Given the description of an element on the screen output the (x, y) to click on. 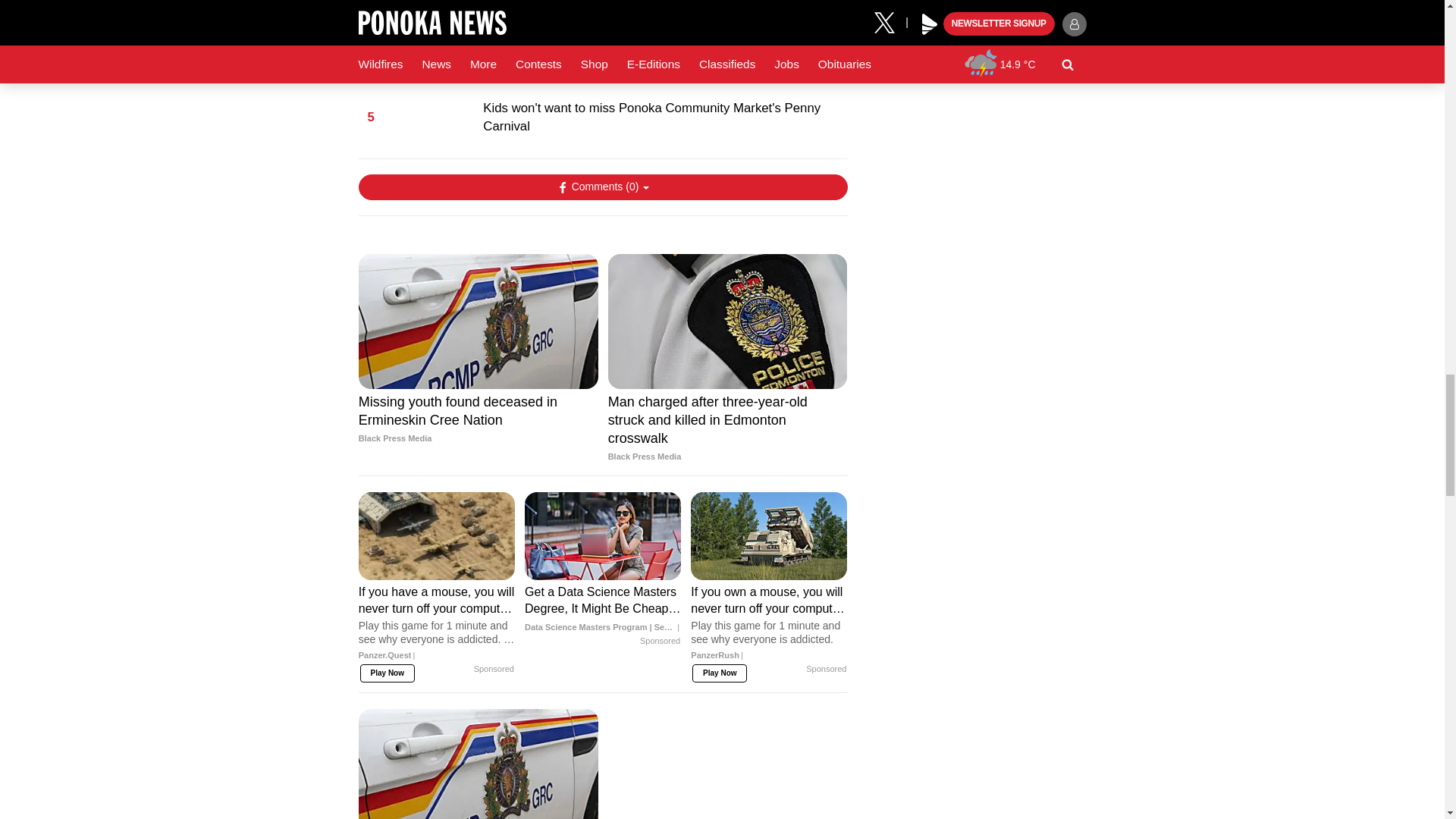
Missing youth found deceased in Ermineskin Cree Nation (478, 420)
Show Comments (602, 186)
